Given the description of an element on the screen output the (x, y) to click on. 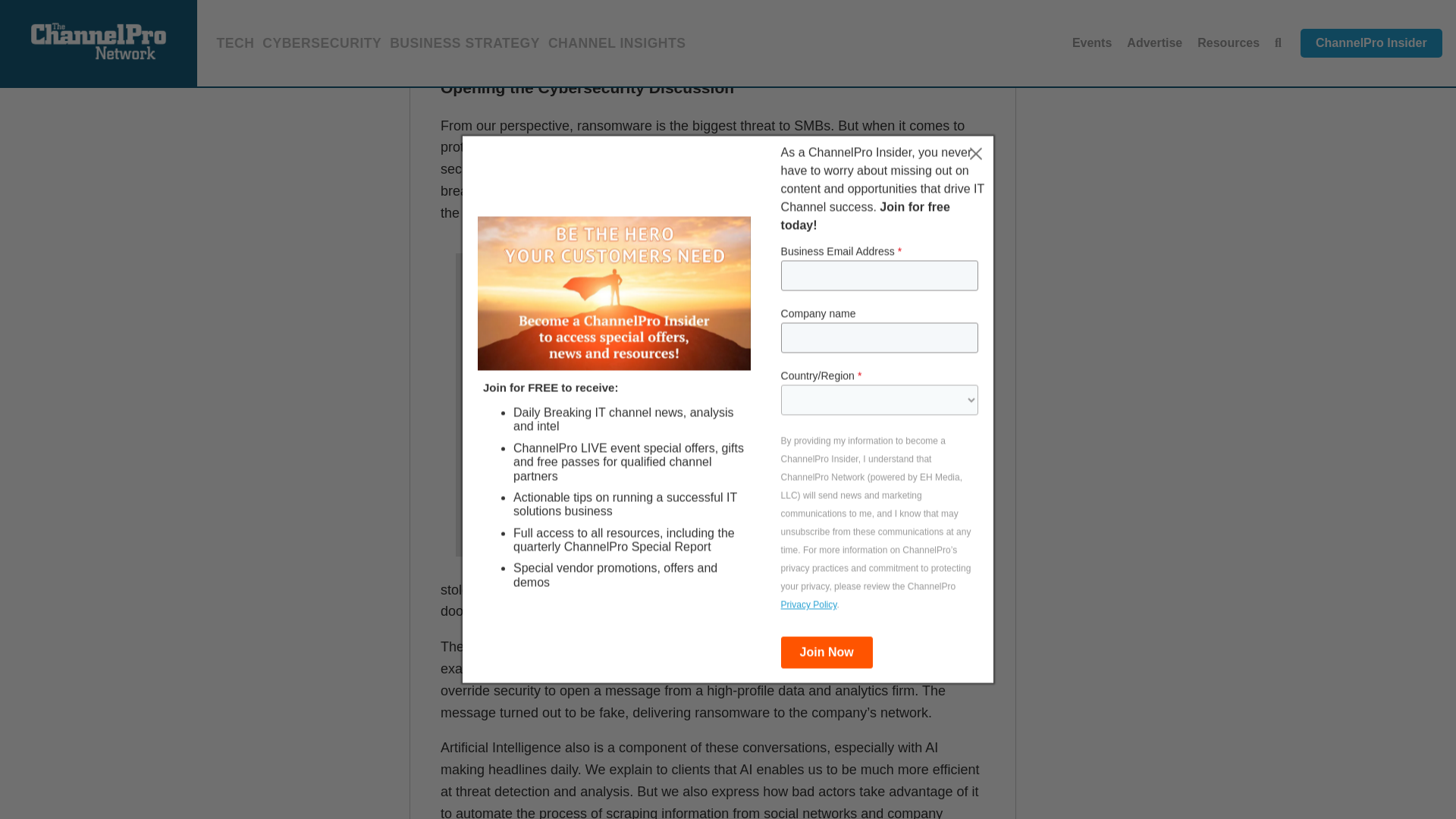
3rd party ad content (1160, 49)
